Given the description of an element on the screen output the (x, y) to click on. 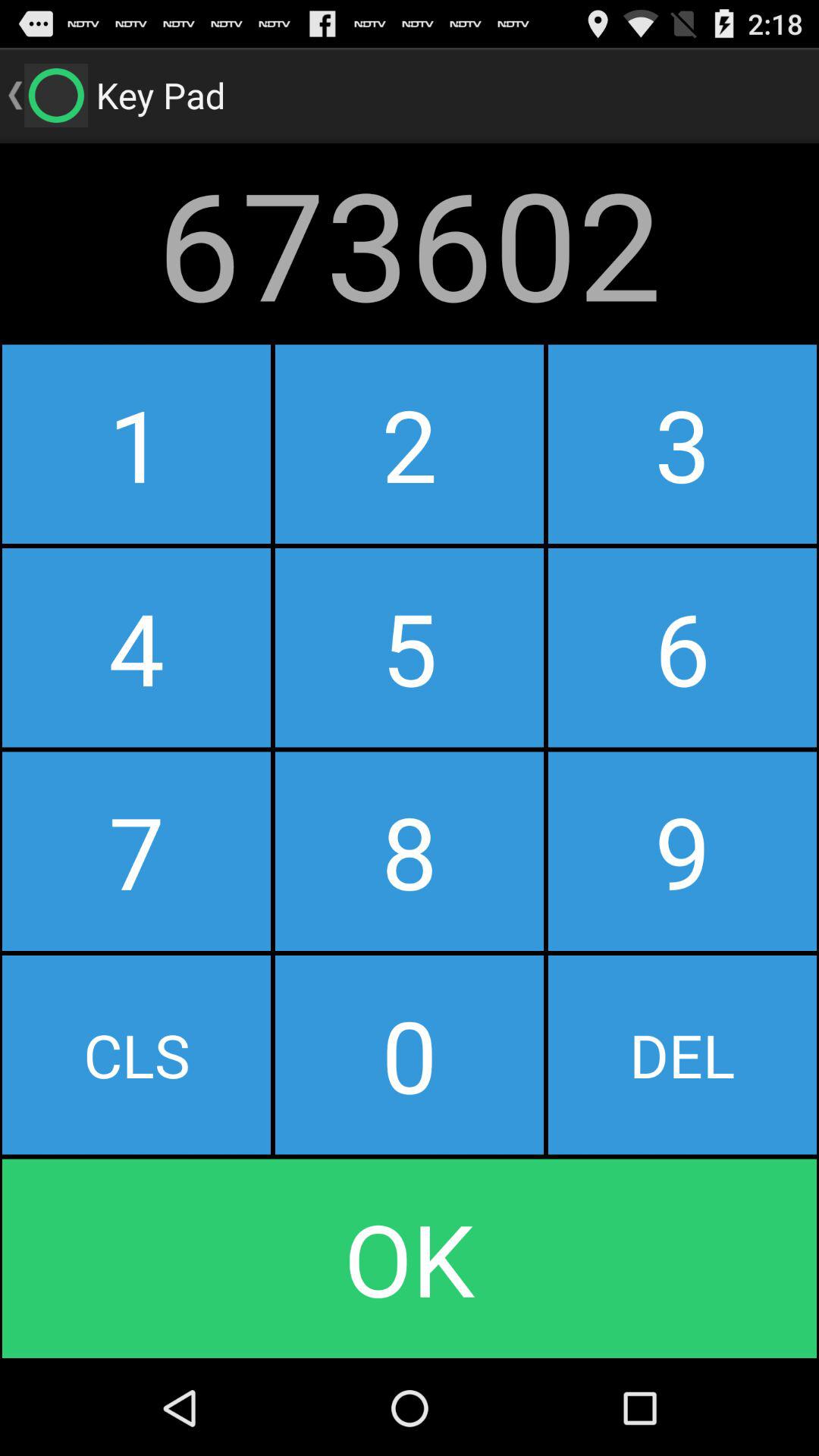
press item below 1 icon (409, 647)
